Given the description of an element on the screen output the (x, y) to click on. 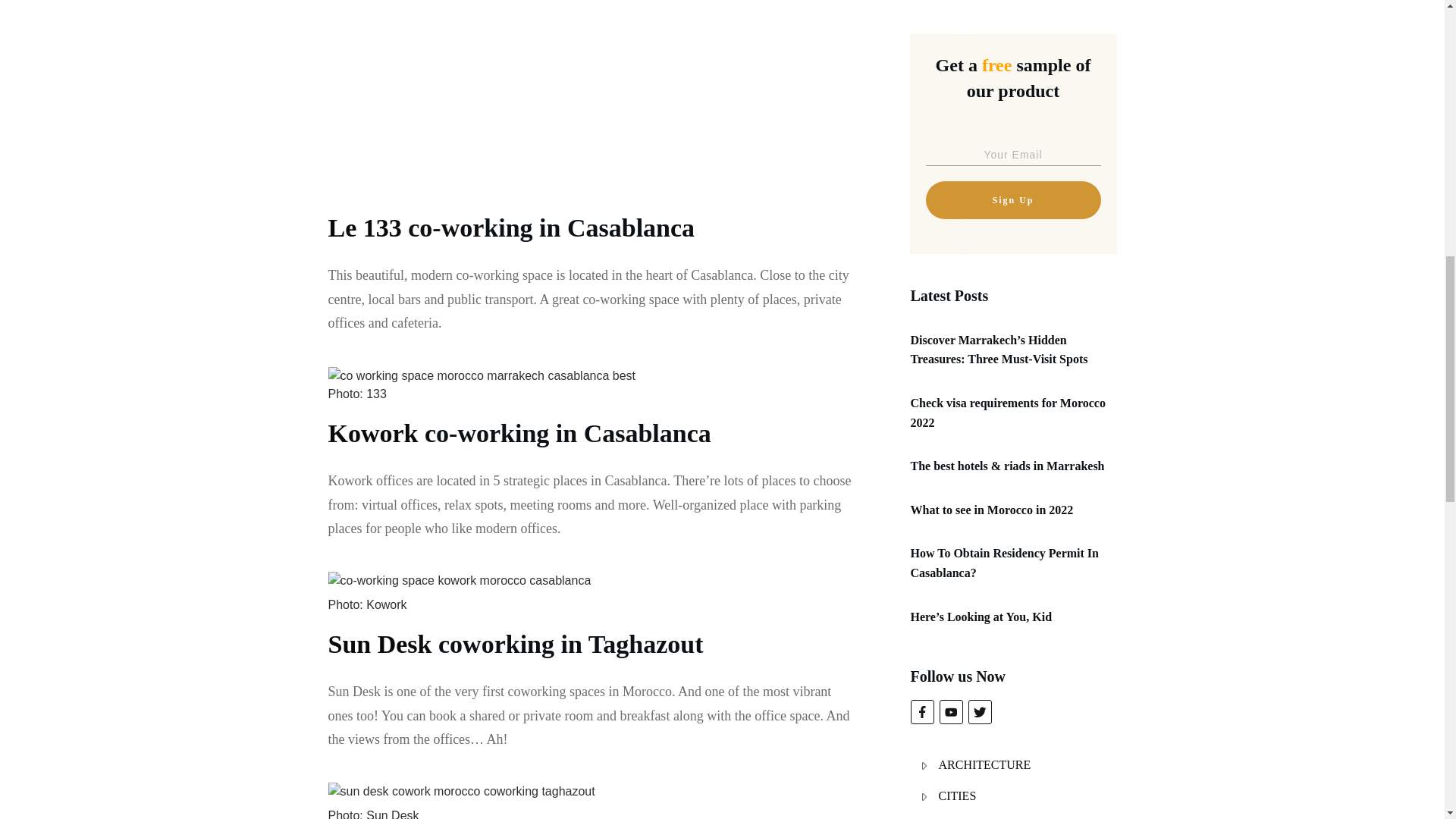
How To Obtain Residency Permit In Casablanca? (1003, 563)
Le 133 (364, 227)
Kowork (376, 433)
Check visa requirements for Morocco 2022 (1007, 412)
Sign Up (1012, 199)
What to see in Morocco in 2022 (991, 509)
Check visa requirements for Morocco 2022 (1007, 412)
How To Obtain Residency Permit In Casablanca? (1003, 563)
What to see in Morocco in 2022 (991, 509)
Sun Desk (378, 643)
